Given the description of an element on the screen output the (x, y) to click on. 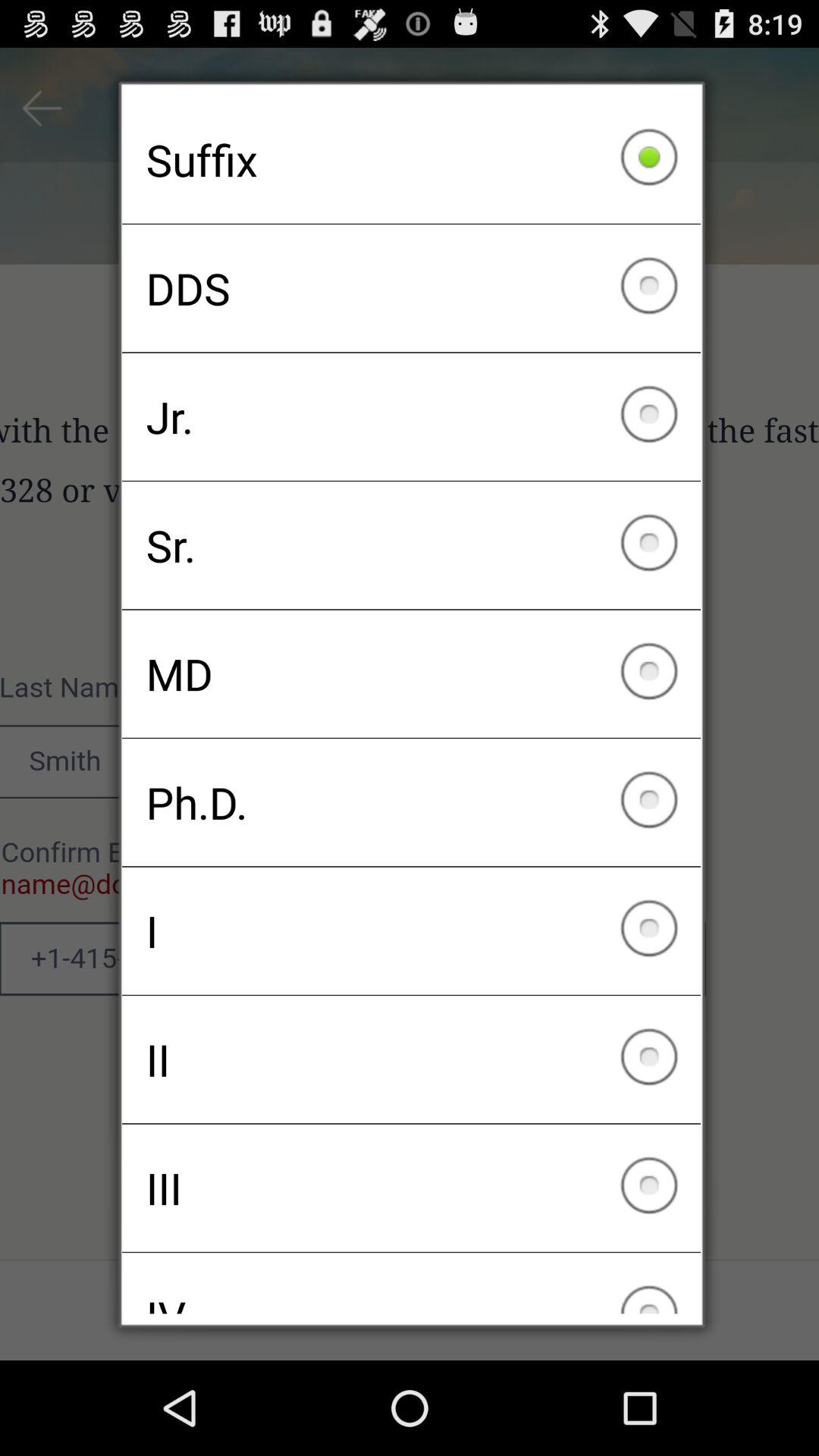
turn on ph.d. icon (411, 802)
